Given the description of an element on the screen output the (x, y) to click on. 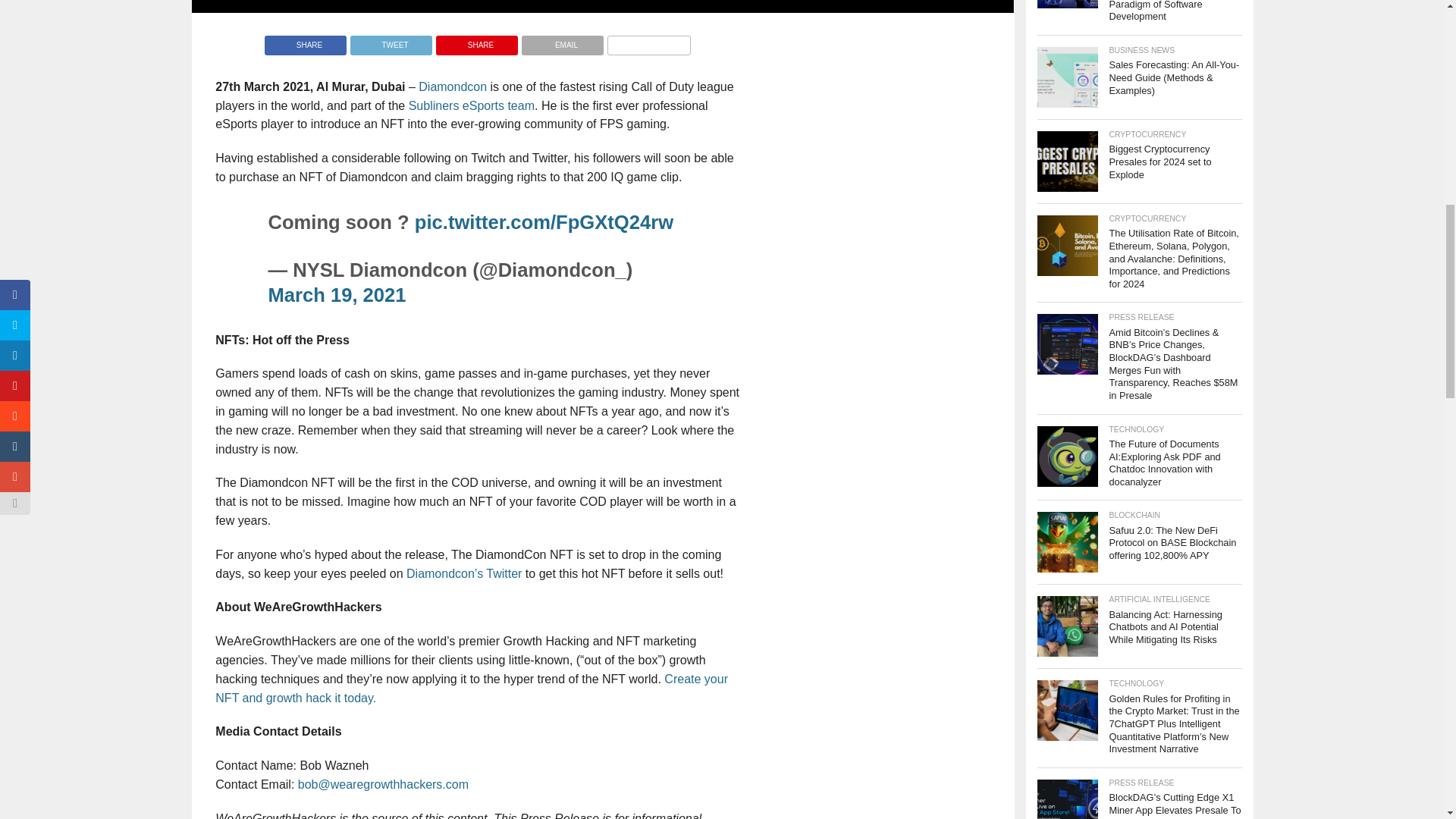
Tweet This Post (390, 41)
Share on Facebook (305, 41)
Pin This Post (476, 41)
